Given the description of an element on the screen output the (x, y) to click on. 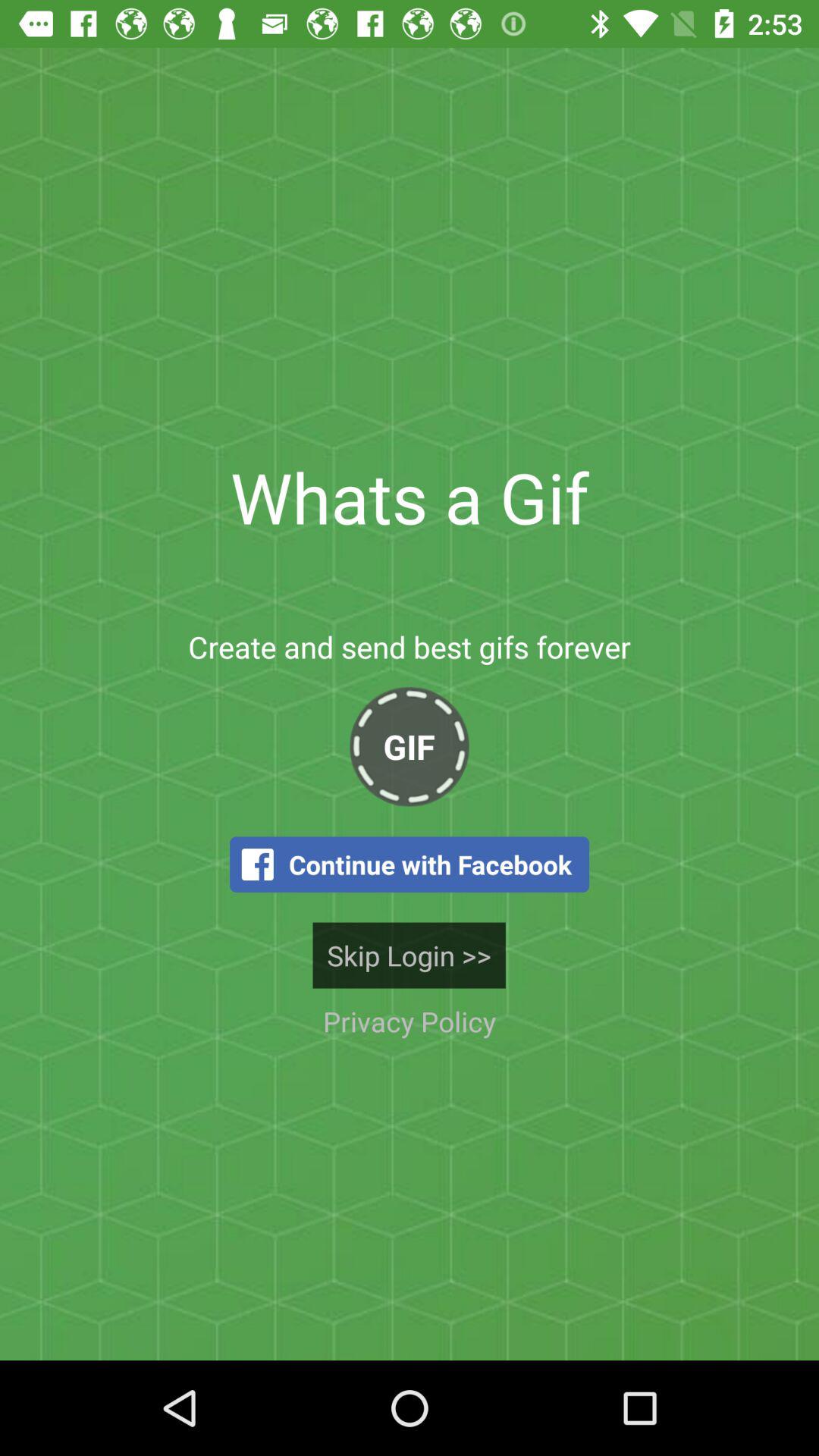
scroll until the skip login >> item (408, 955)
